Given the description of an element on the screen output the (x, y) to click on. 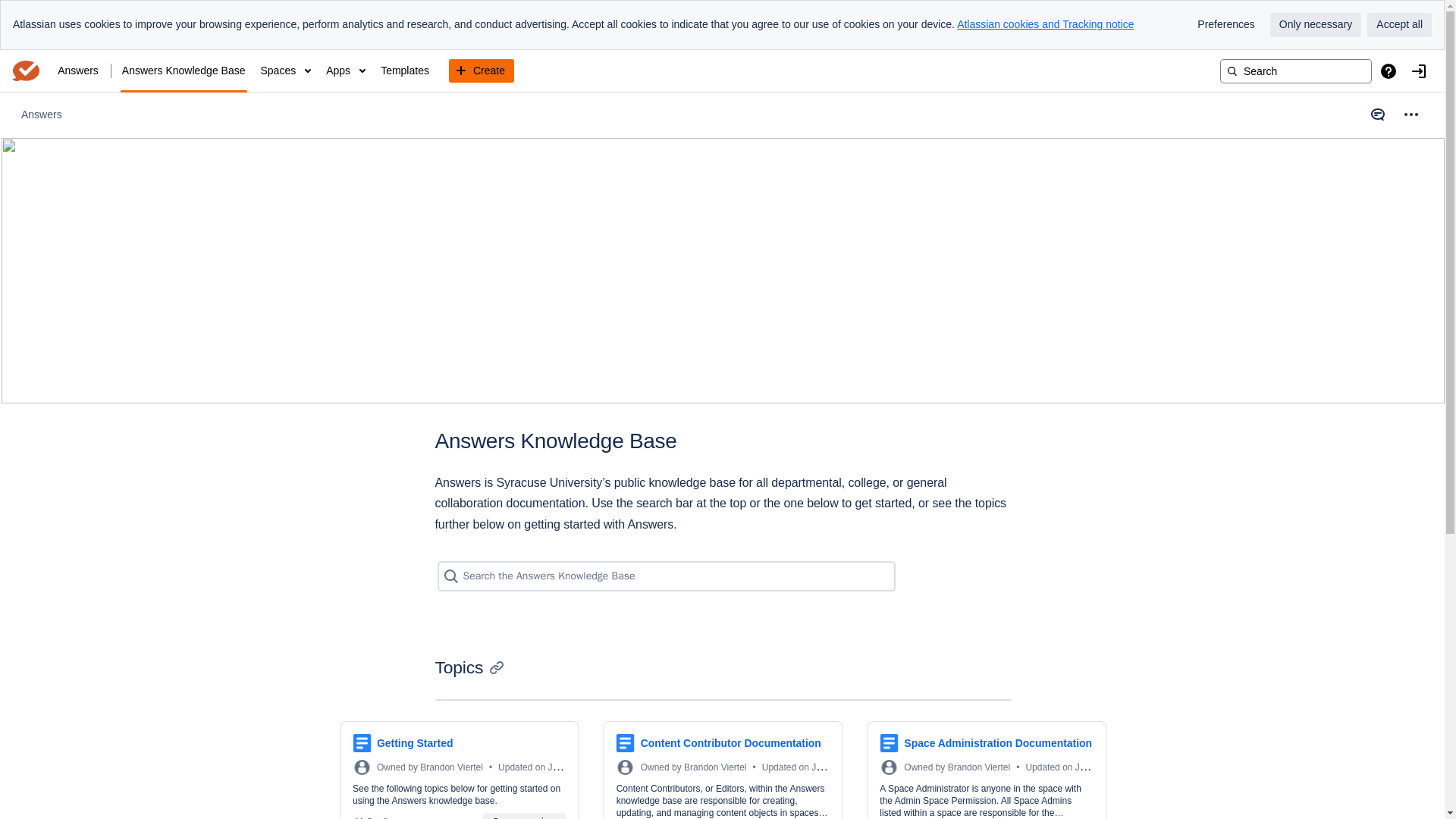
Only necessary (1315, 24)
Space Administration Documentation (998, 743)
Atlassian cookies and Tracking notice (1045, 24)
Apps (345, 70)
Getting Started (414, 743)
Templates (404, 70)
Answers Knowledge Base (183, 70)
Spaces (285, 70)
Content Contributor Documentation (730, 743)
Accept all (1399, 24)
Live Search Macro (665, 568)
Answers (41, 114)
Preferences (1225, 24)
Create (480, 70)
Open preview (523, 816)
